Given the description of an element on the screen output the (x, y) to click on. 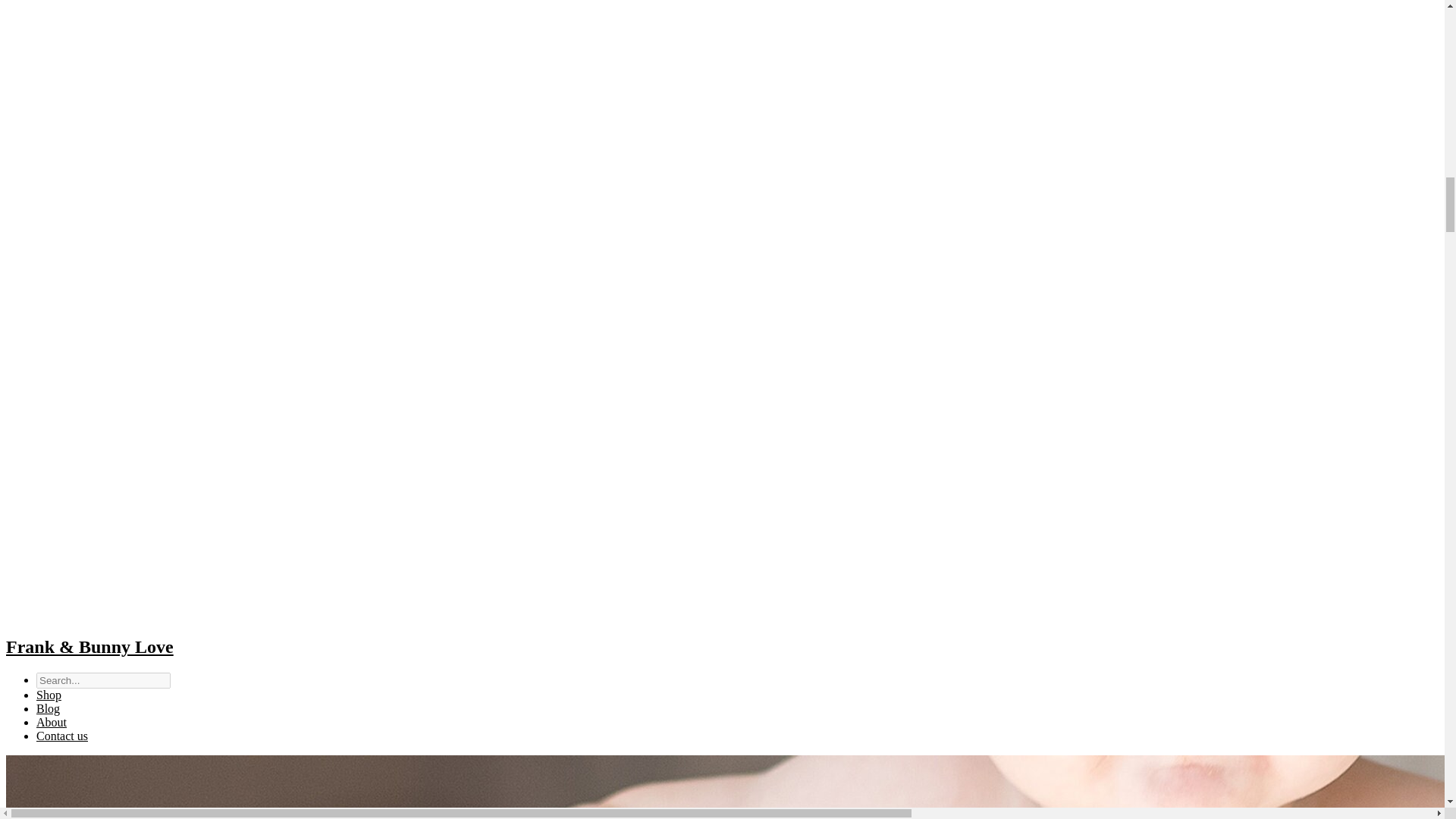
Contact us (61, 735)
Blog (47, 707)
Shop (48, 694)
About (51, 721)
